Given the description of an element on the screen output the (x, y) to click on. 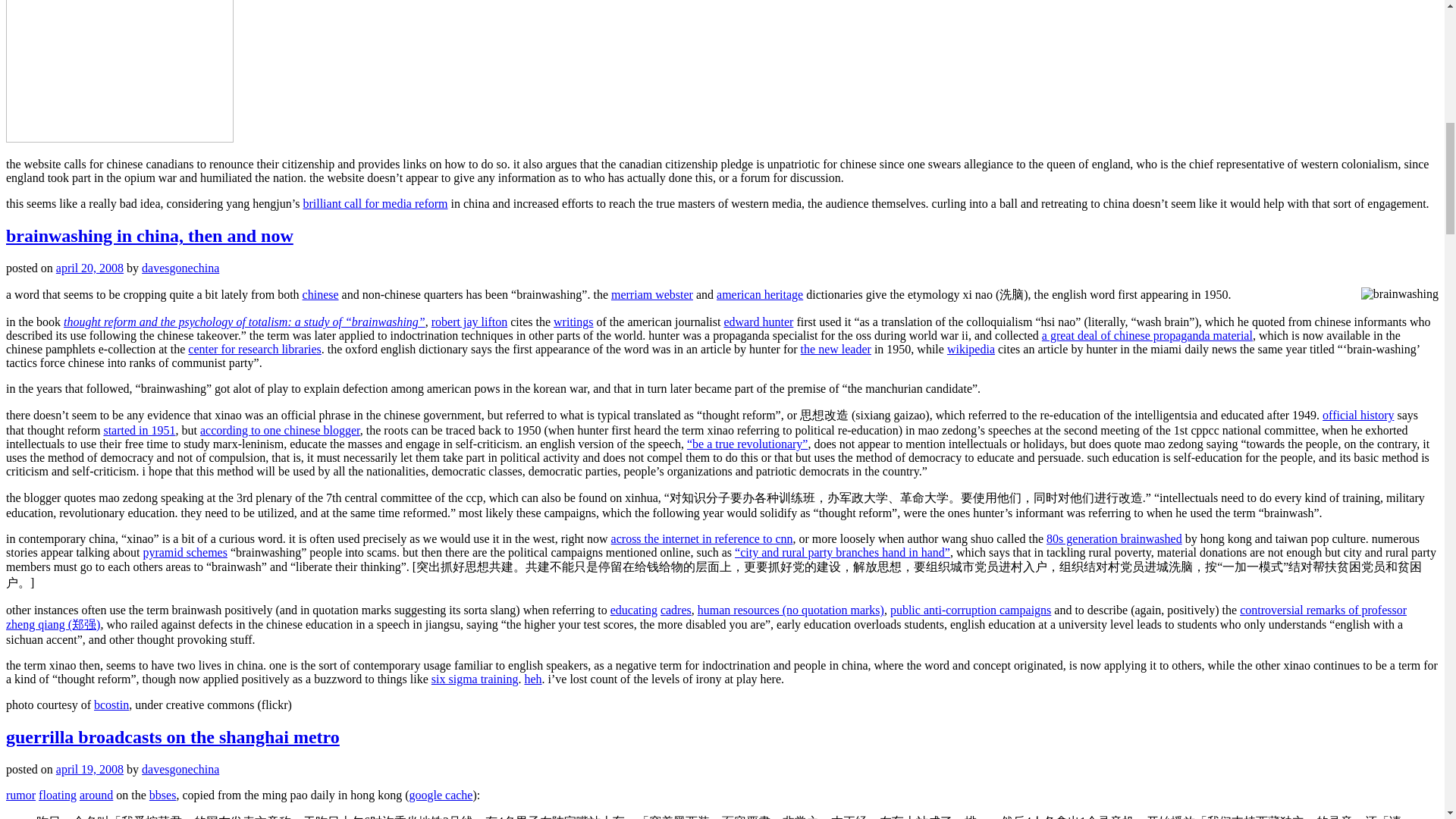
davesgonechina (180, 267)
april 20, 2008 (89, 267)
robert jay lifton (468, 321)
merriam webster (652, 294)
center for research libraries (253, 349)
american heritage (759, 294)
a great deal of chinese propaganda material (1147, 335)
backtothemotherland (118, 71)
chinese (320, 294)
brilliant call for media reform (374, 203)
wikipedia (970, 349)
brainwashing in china, then and now (149, 235)
edward hunter (758, 321)
the new leader (835, 349)
writings (572, 321)
